Given the description of an element on the screen output the (x, y) to click on. 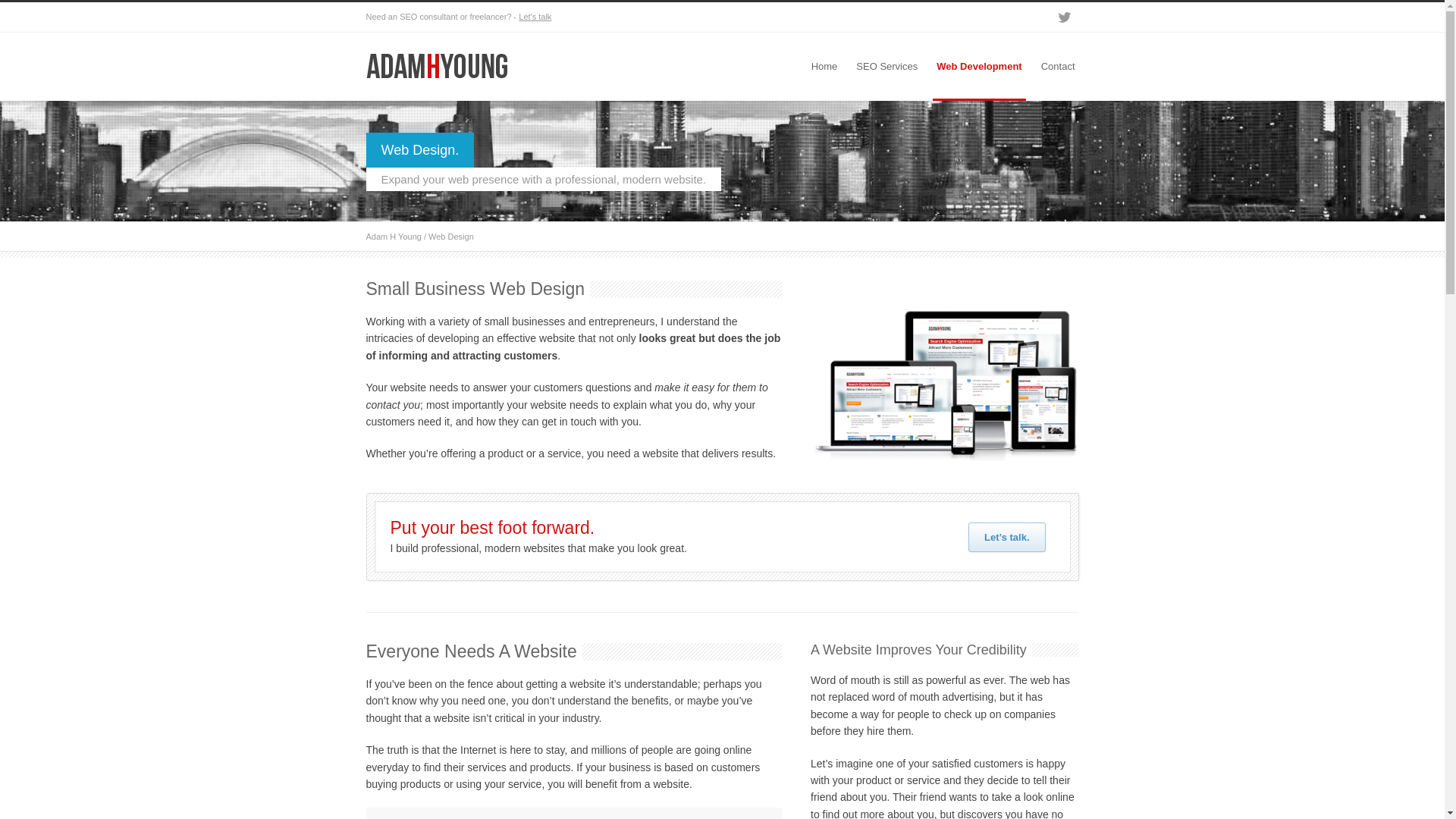
Let's talk Element type: text (534, 16)
Adam H Young Element type: text (392, 236)
Web Development Element type: text (978, 66)
Twitter Element type: text (1063, 17)
Contact Element type: text (1058, 66)
SEO Services Element type: text (886, 66)
Home Element type: text (824, 66)
